Given the description of an element on the screen output the (x, y) to click on. 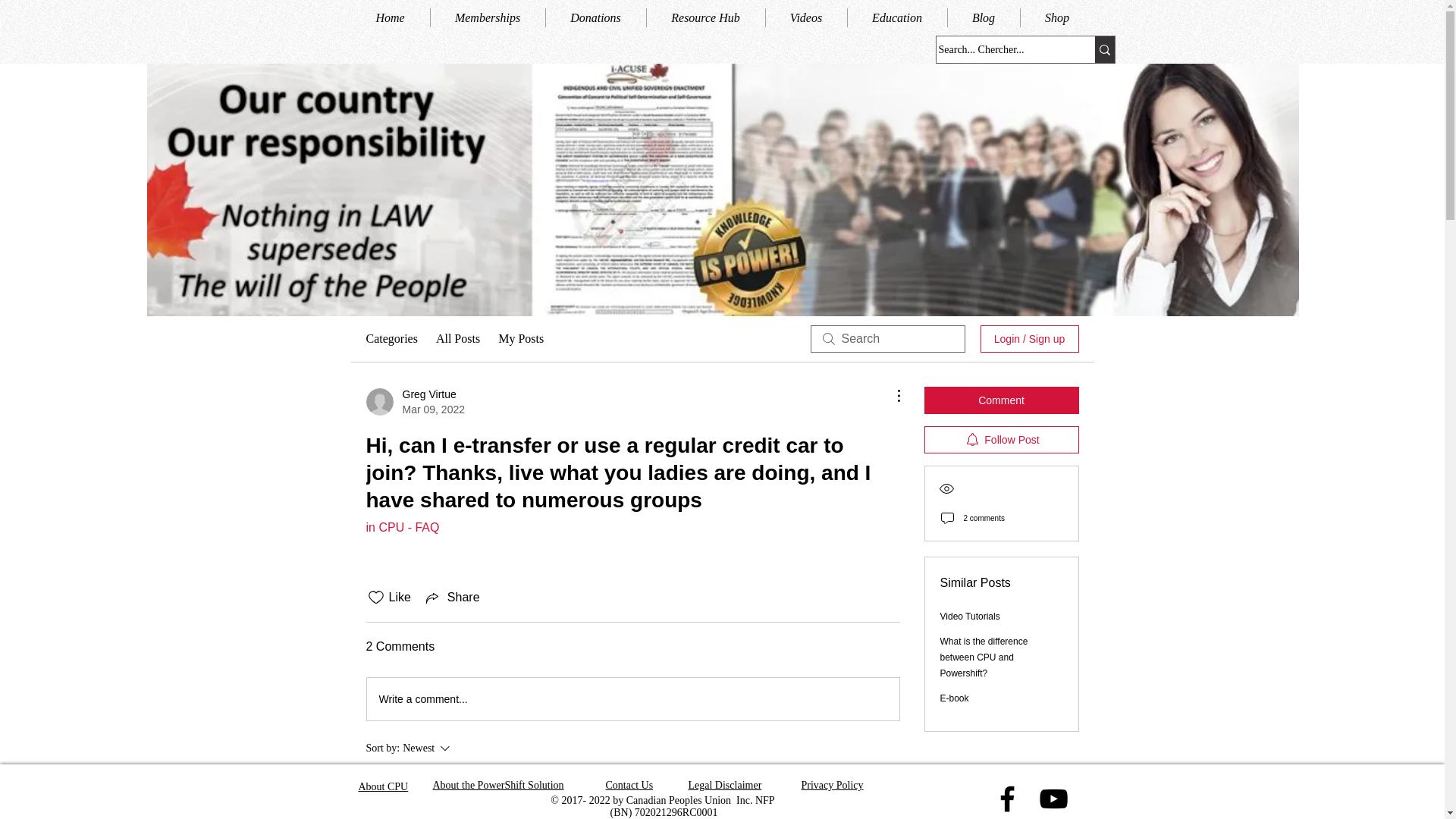
Shop (1057, 17)
Home (389, 17)
All Posts (457, 339)
Memberships (414, 401)
Donations (487, 17)
Videos (596, 17)
in CPU - FAQ (806, 17)
Share (402, 526)
My Posts (451, 597)
Categories (520, 339)
Resource Hub (390, 339)
Education (705, 17)
Blog (897, 17)
